Given the description of an element on the screen output the (x, y) to click on. 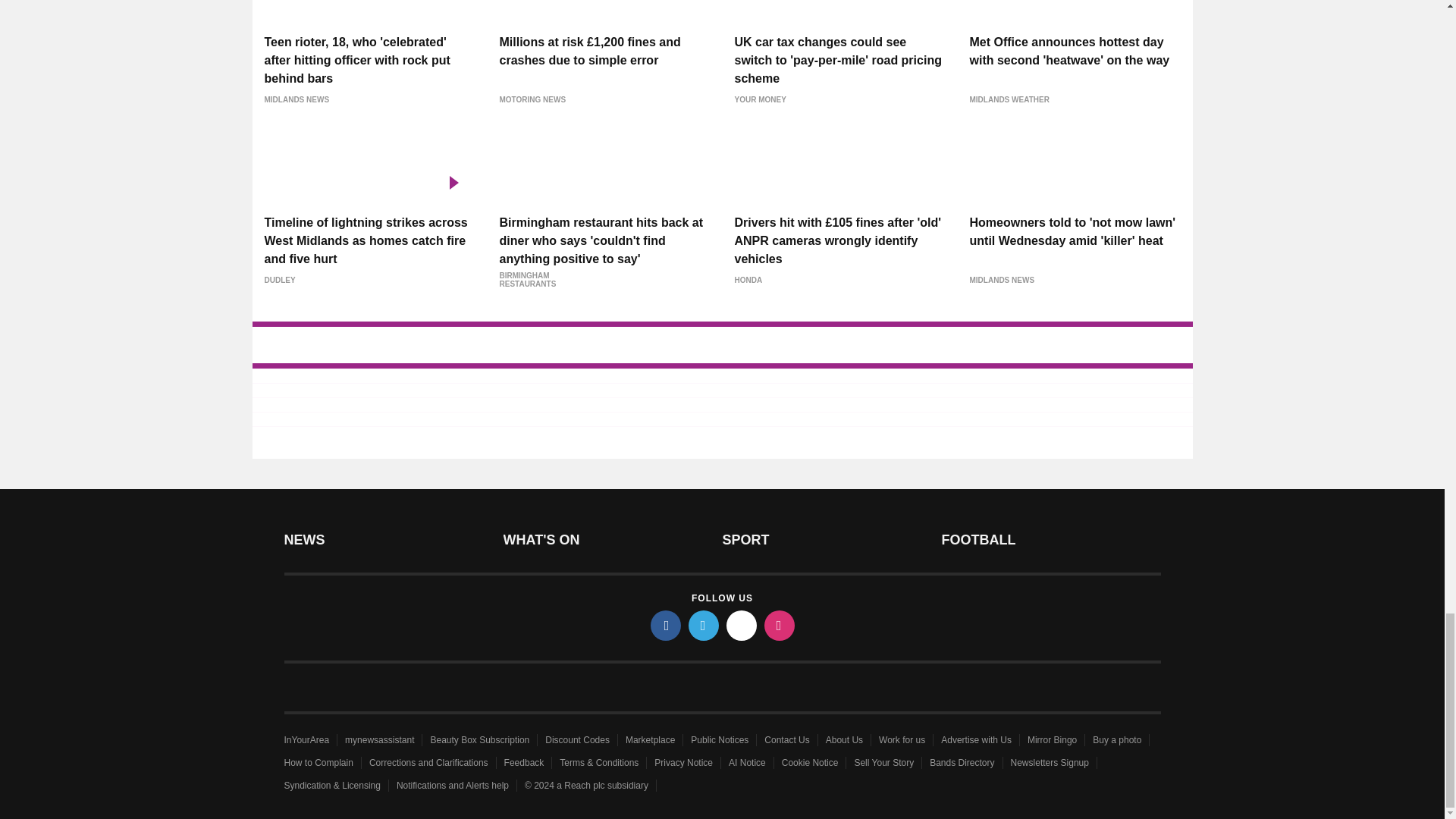
facebook (665, 625)
twitter (703, 625)
instagram (779, 625)
tiktok (741, 625)
